Given the description of an element on the screen output the (x, y) to click on. 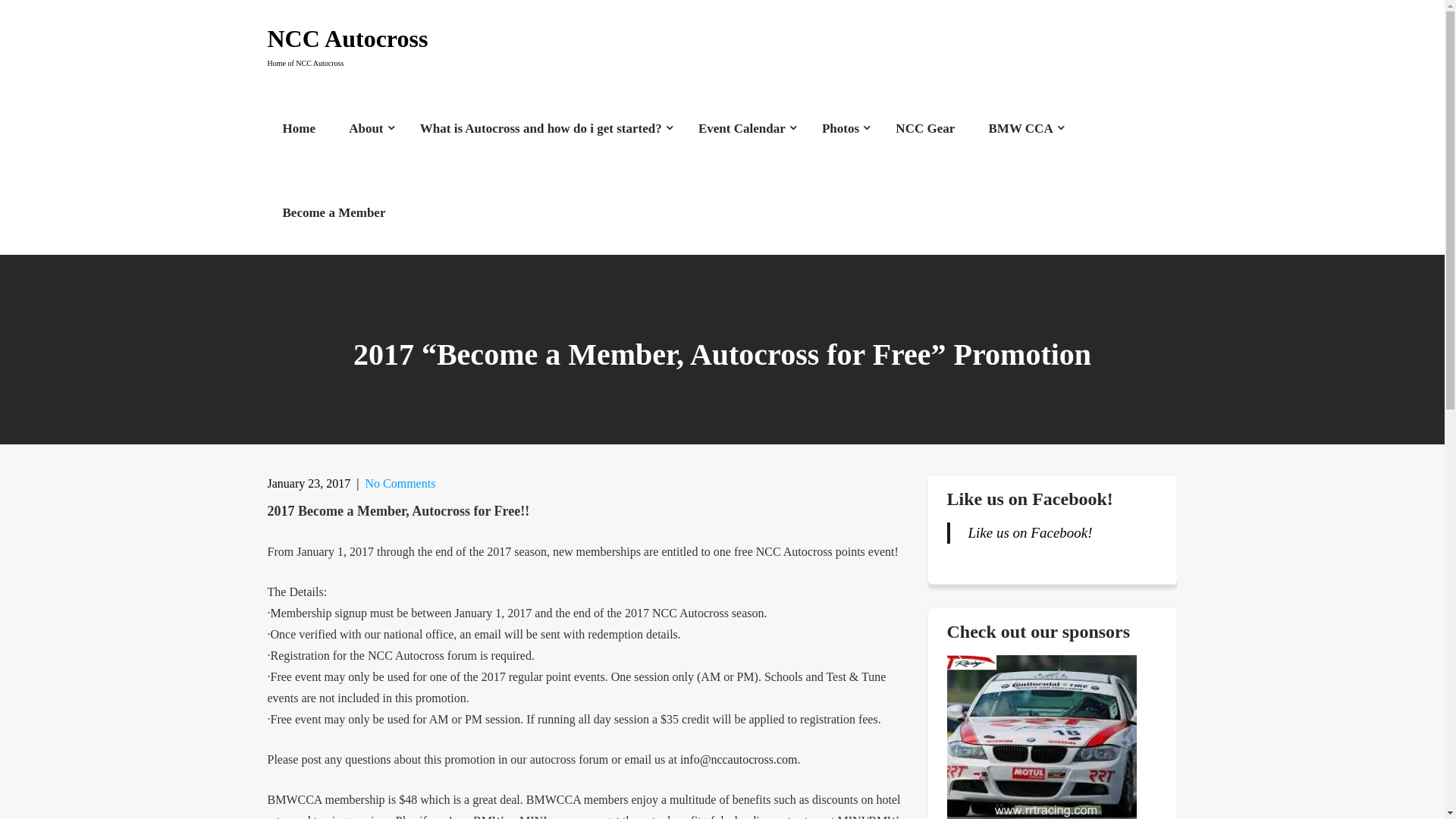
Event Calendar (347, 38)
Become a Member (742, 128)
No Comments (333, 212)
Photos (400, 482)
NCC Gear (841, 128)
RRT (924, 128)
About (1040, 737)
Home (367, 128)
BMW CCA (298, 128)
What is Autocross and how do i get started? (1022, 128)
Like us on Facebook! (541, 128)
Like us on Facebook! (1029, 498)
